Given the description of an element on the screen output the (x, y) to click on. 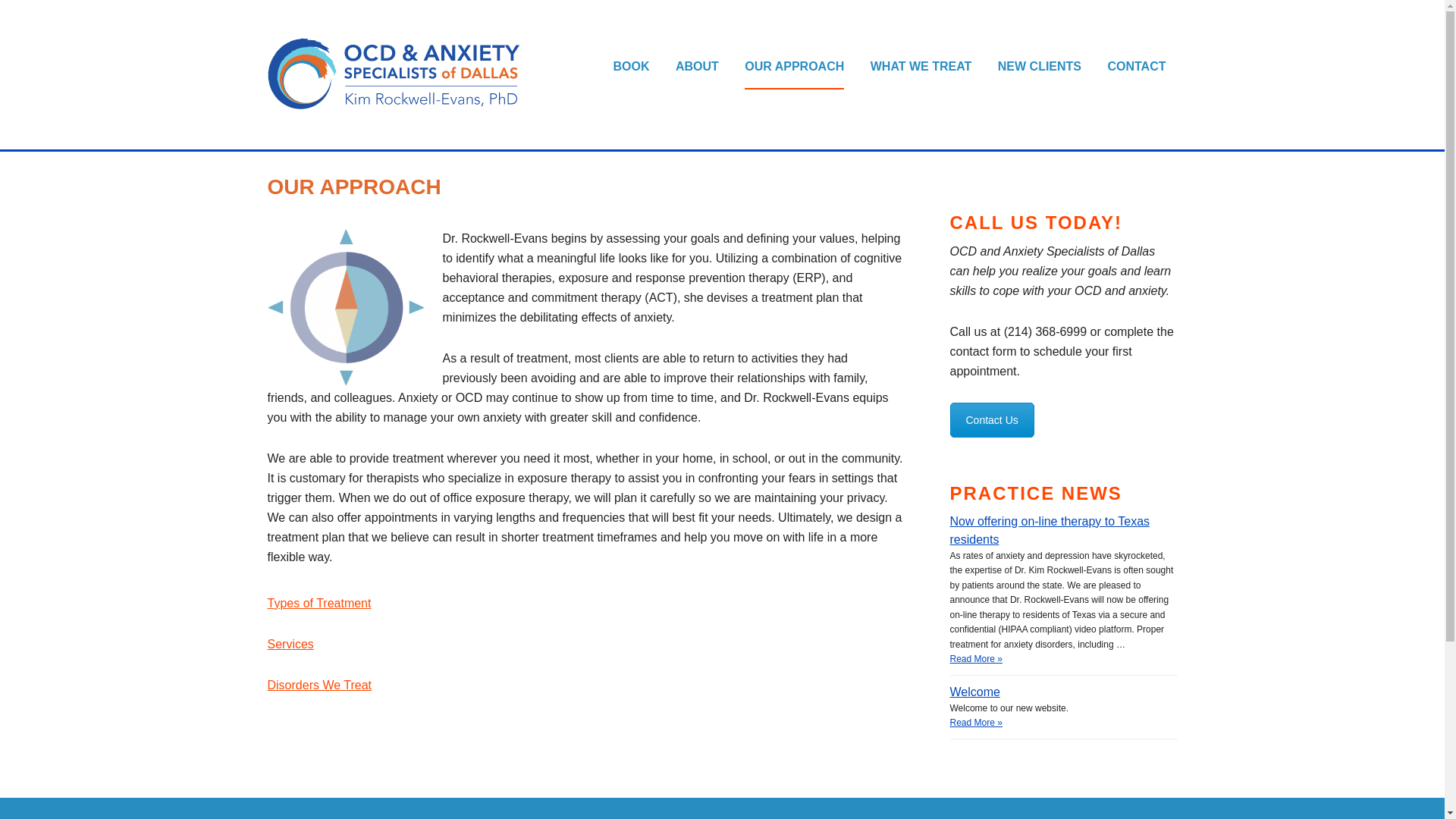
WHAT WE TREAT (921, 67)
OUR APPROACH (794, 67)
Welcome (1062, 692)
Disorders We Treat (318, 684)
Now offering on-line therapy to Texas residents (1062, 530)
ABOUT (697, 67)
CONTACT (1136, 67)
Types of Treatment (318, 603)
Services (289, 644)
NEW CLIENTS (1039, 67)
Contact Us (991, 419)
